Given the description of an element on the screen output the (x, y) to click on. 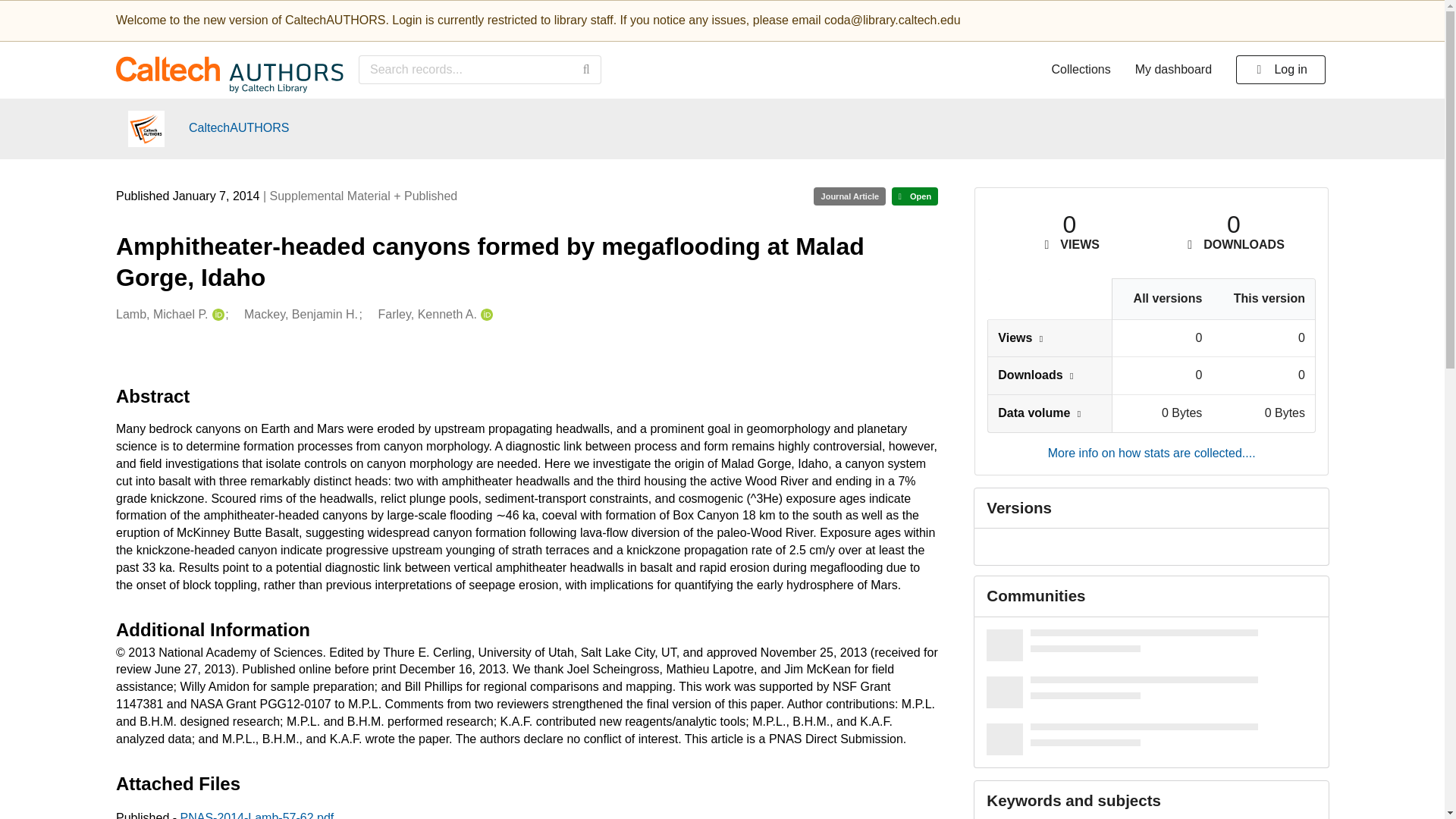
Log in (1280, 69)
CaltechAUTHORS (238, 128)
Access status (915, 196)
Farley, Kenneth A.'s ORCID profile (485, 314)
Skip to main (58, 18)
My dashboard (1173, 69)
Mackey, Benjamin H. (301, 314)
PNAS-2014-Lamb-57-62.pdf (257, 815)
Lamb, Michael P.'s ORCID profile (216, 314)
Farley, Kenneth A. (427, 314)
